Given the description of an element on the screen output the (x, y) to click on. 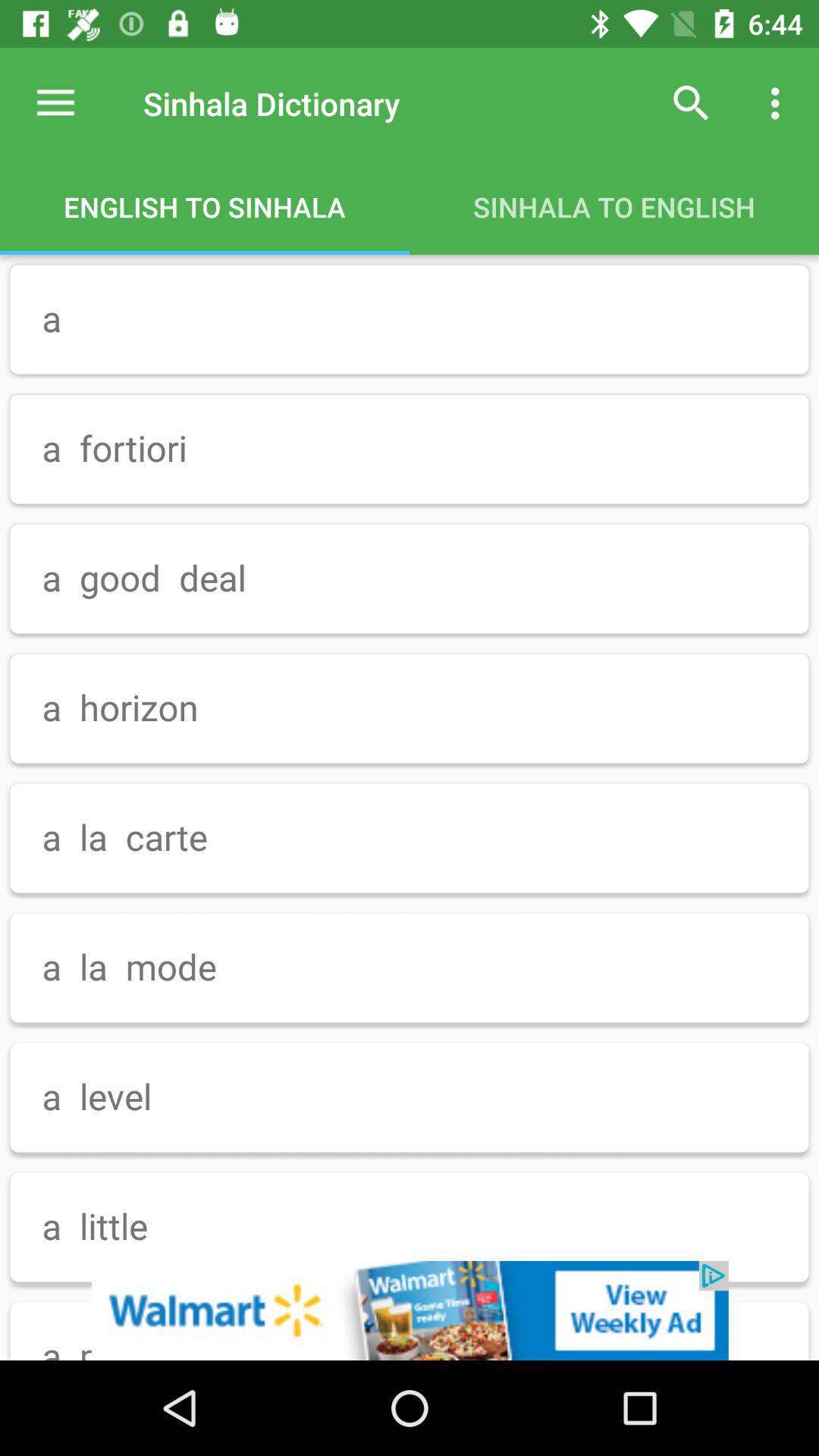
advertisement area (409, 1310)
